Given the description of an element on the screen output the (x, y) to click on. 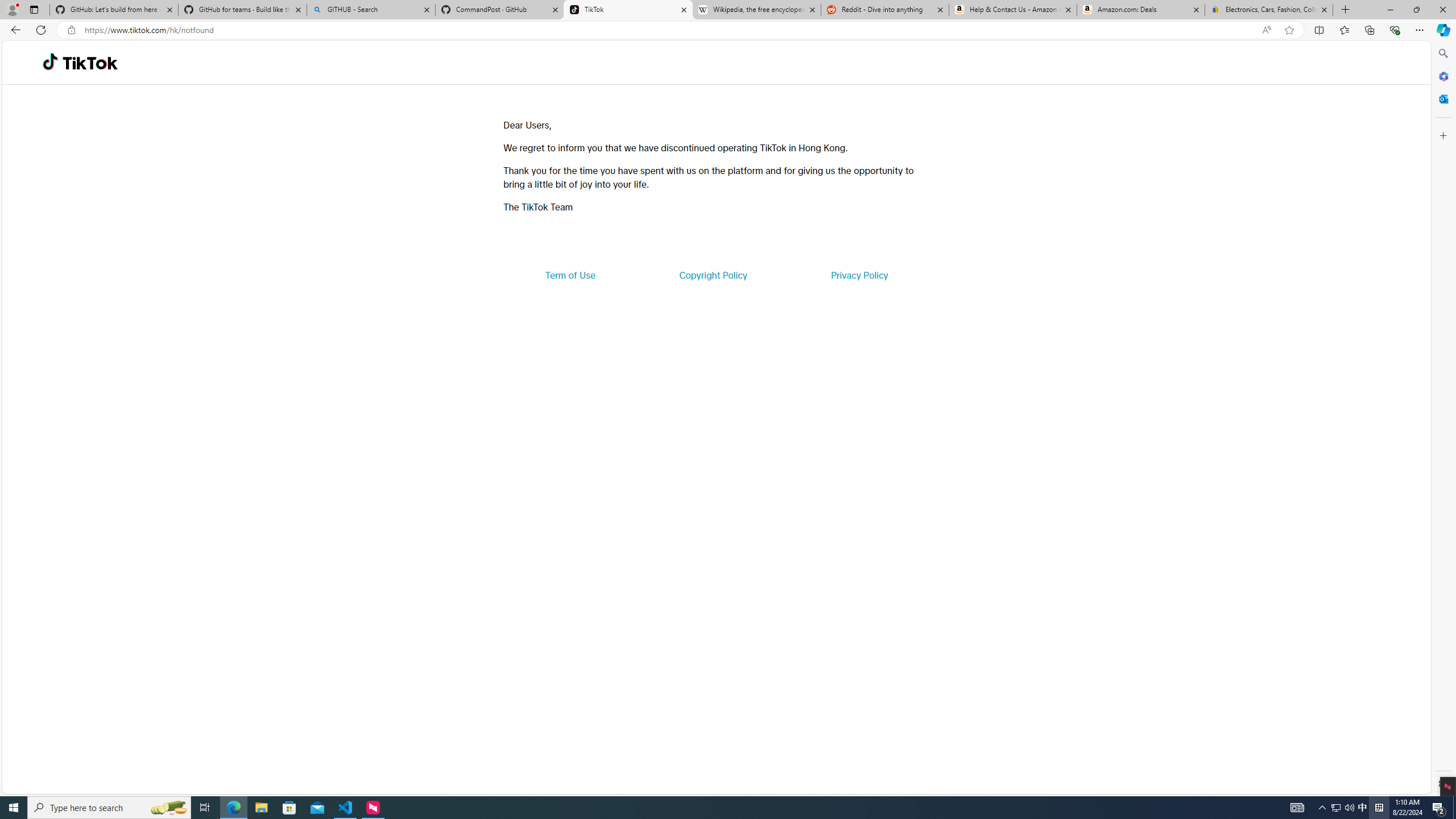
Copyright Policy (712, 274)
